Given the description of an element on the screen output the (x, y) to click on. 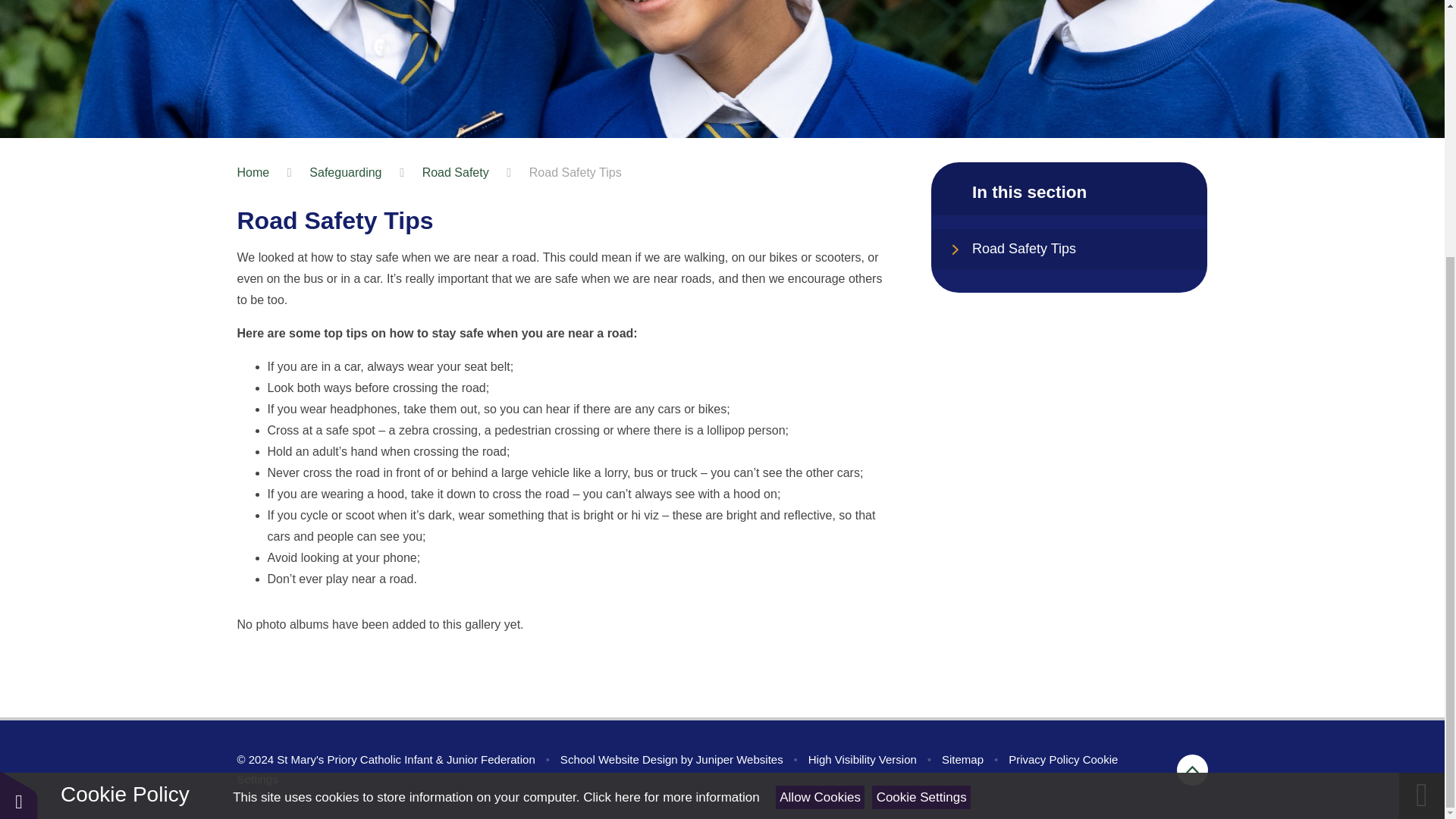
Cookie Settings (921, 431)
See cookie policy (670, 431)
Allow Cookies (820, 431)
Cookie Settings (676, 768)
